Given the description of an element on the screen output the (x, y) to click on. 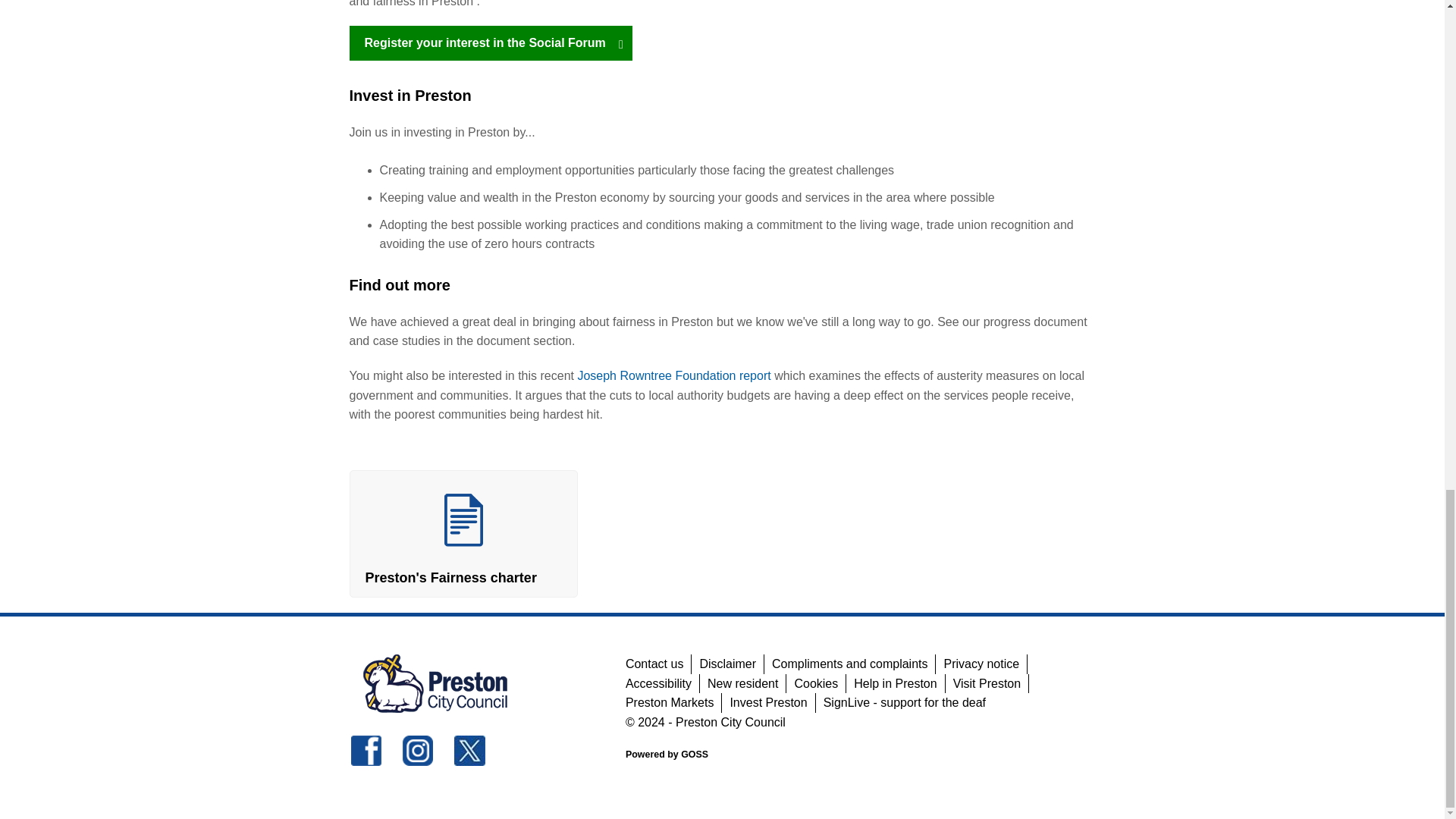
X  (469, 750)
Facebook (365, 750)
Instagram (417, 750)
